Given the description of an element on the screen output the (x, y) to click on. 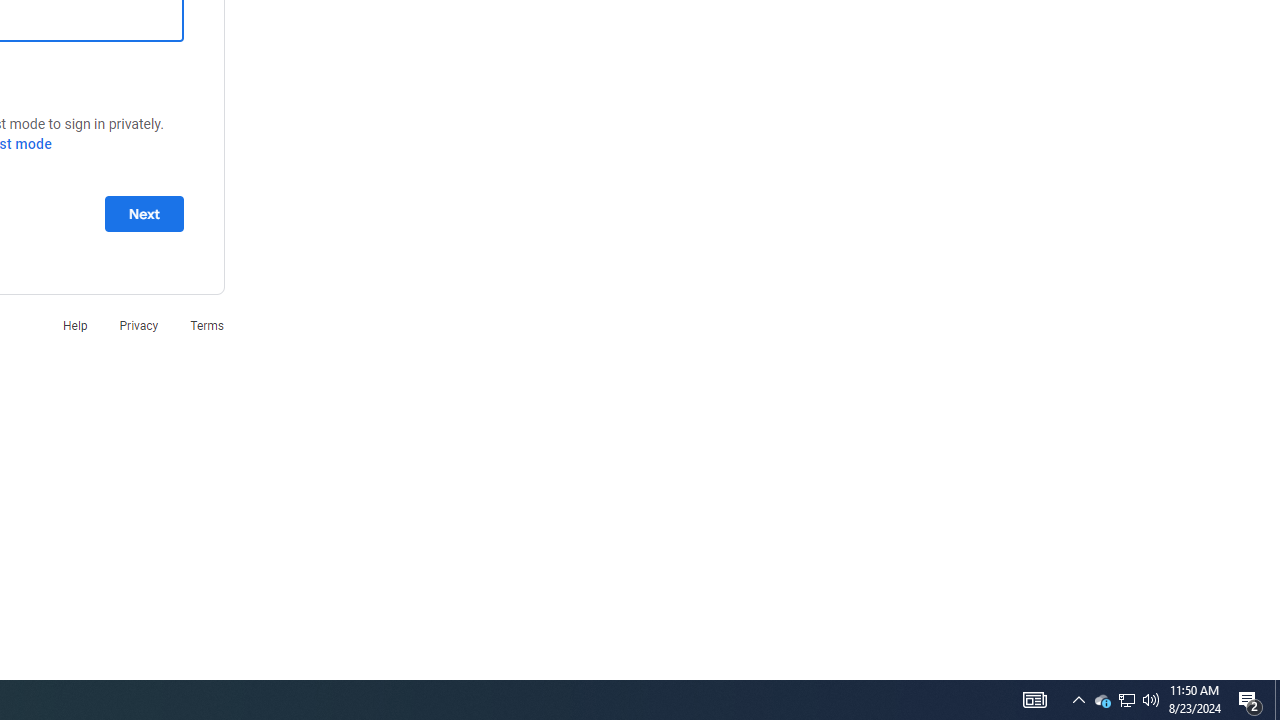
Next (143, 213)
